Given the description of an element on the screen output the (x, y) to click on. 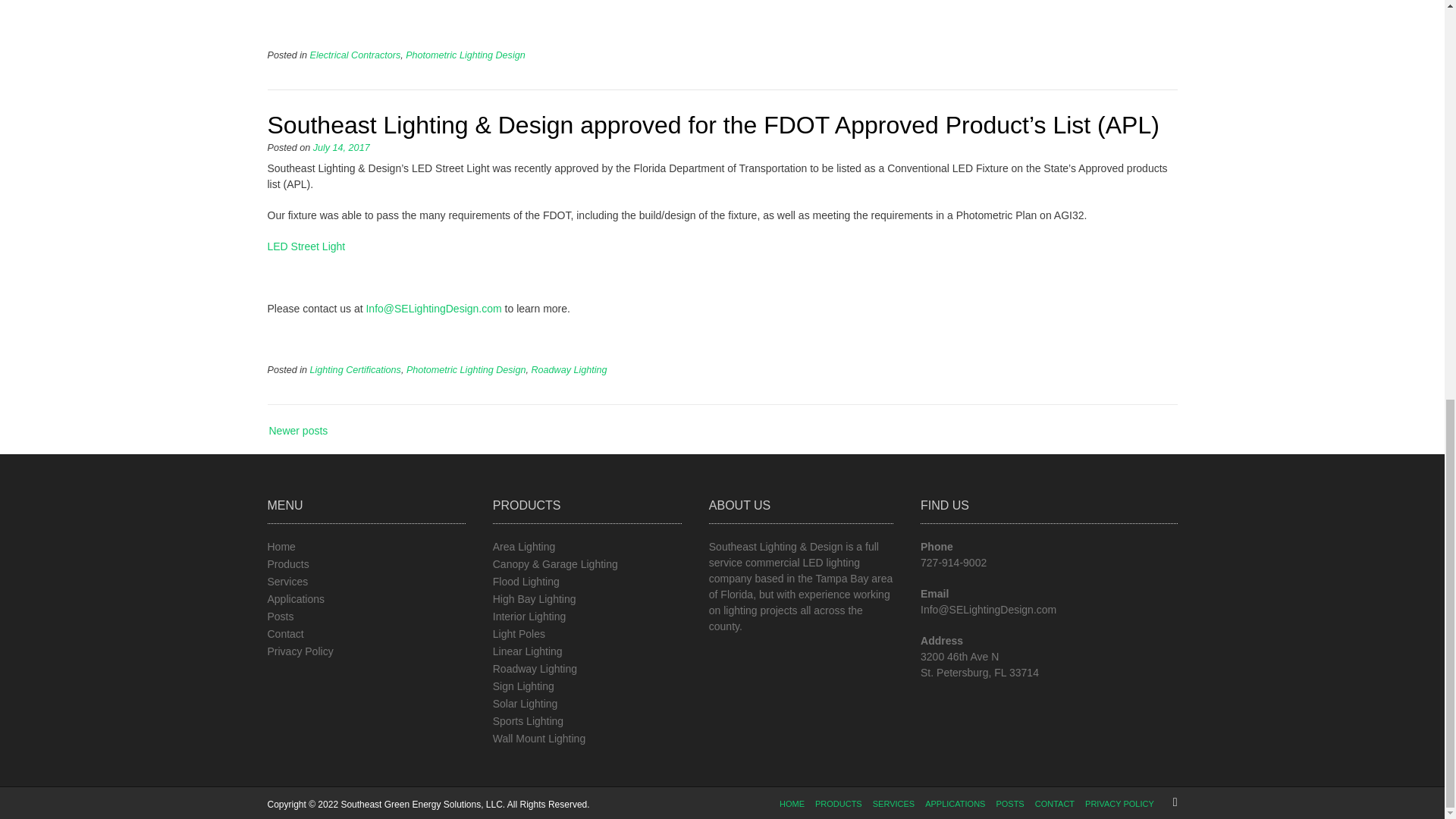
July 14, 2017 (341, 147)
Photometric Lighting Design (465, 369)
Photometric Lighting Design (465, 54)
Lighting Certifications (355, 369)
Electrical Contractors (355, 54)
Roadway Lighting (569, 369)
Newer posts (312, 430)
LED Street Light (305, 246)
